Given the description of an element on the screen output the (x, y) to click on. 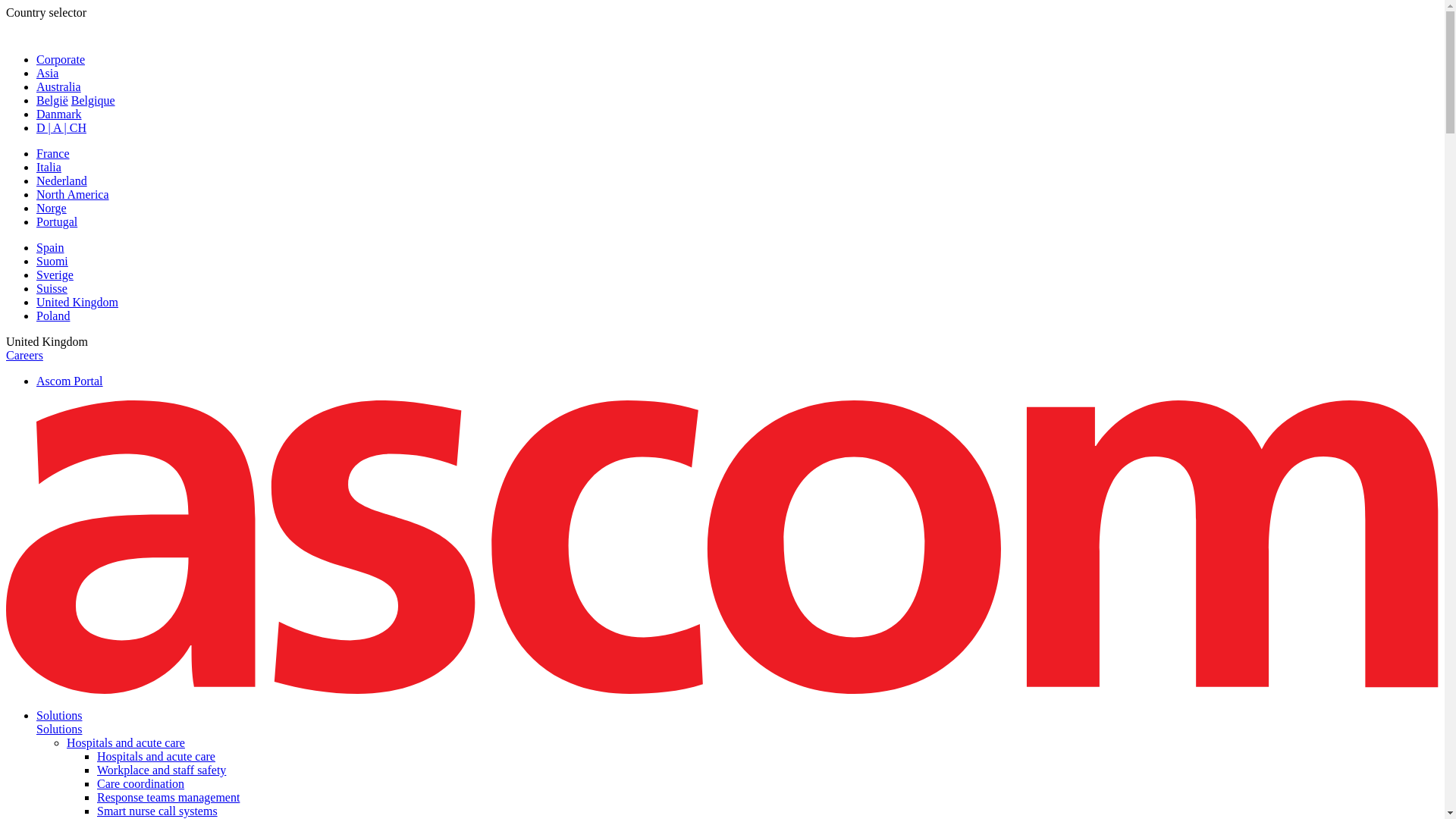
Workplace and staff safety (161, 769)
Corporate (60, 59)
France (52, 153)
Norge (51, 207)
Portugal (56, 221)
Spain (50, 246)
Asia (47, 72)
Hospitals and acute care (156, 756)
Australia (58, 86)
